Given the description of an element on the screen output the (x, y) to click on. 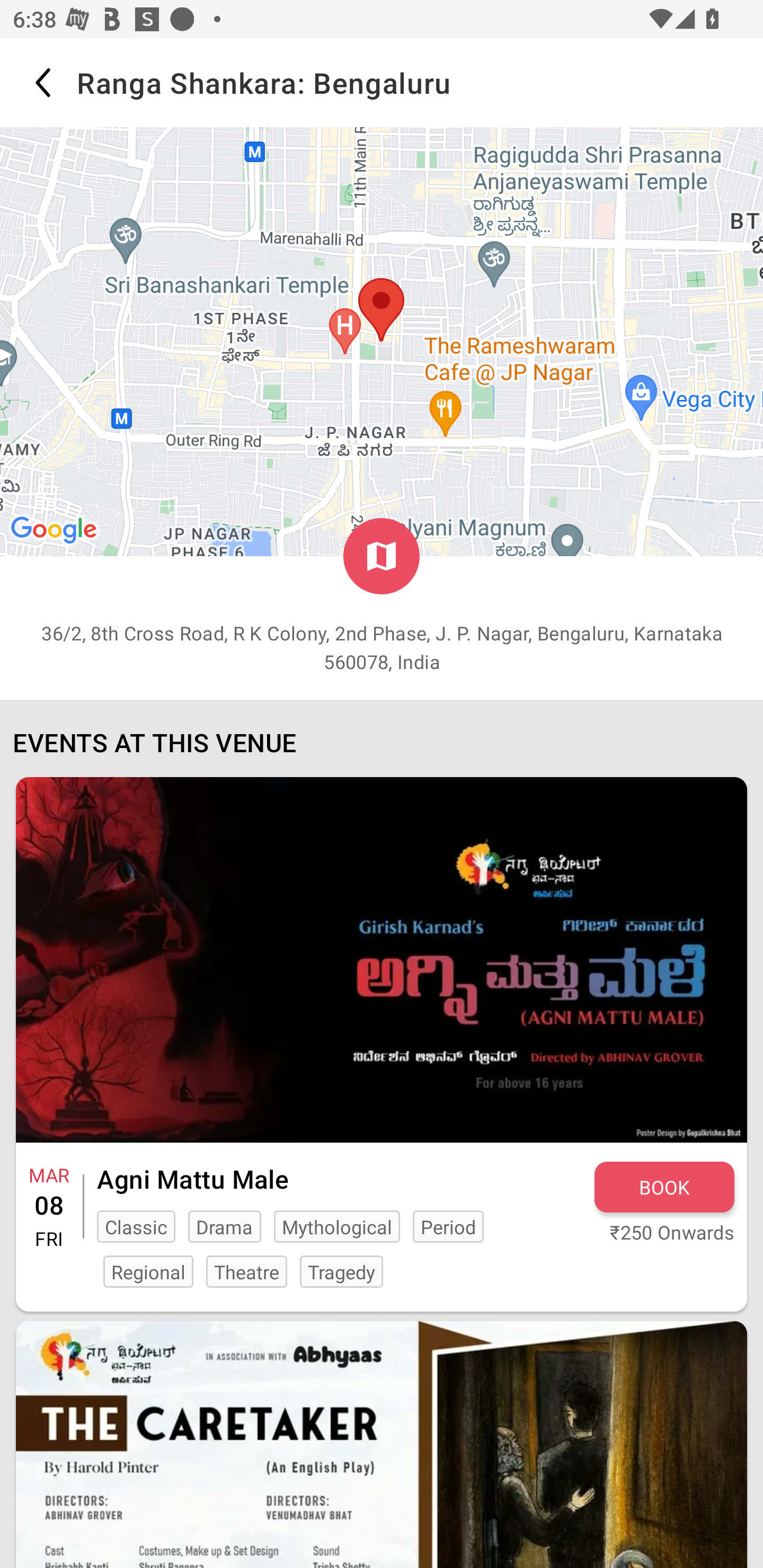
Google Map Map Marker (381, 341)
BOOK (664, 1186)
